Given the description of an element on the screen output the (x, y) to click on. 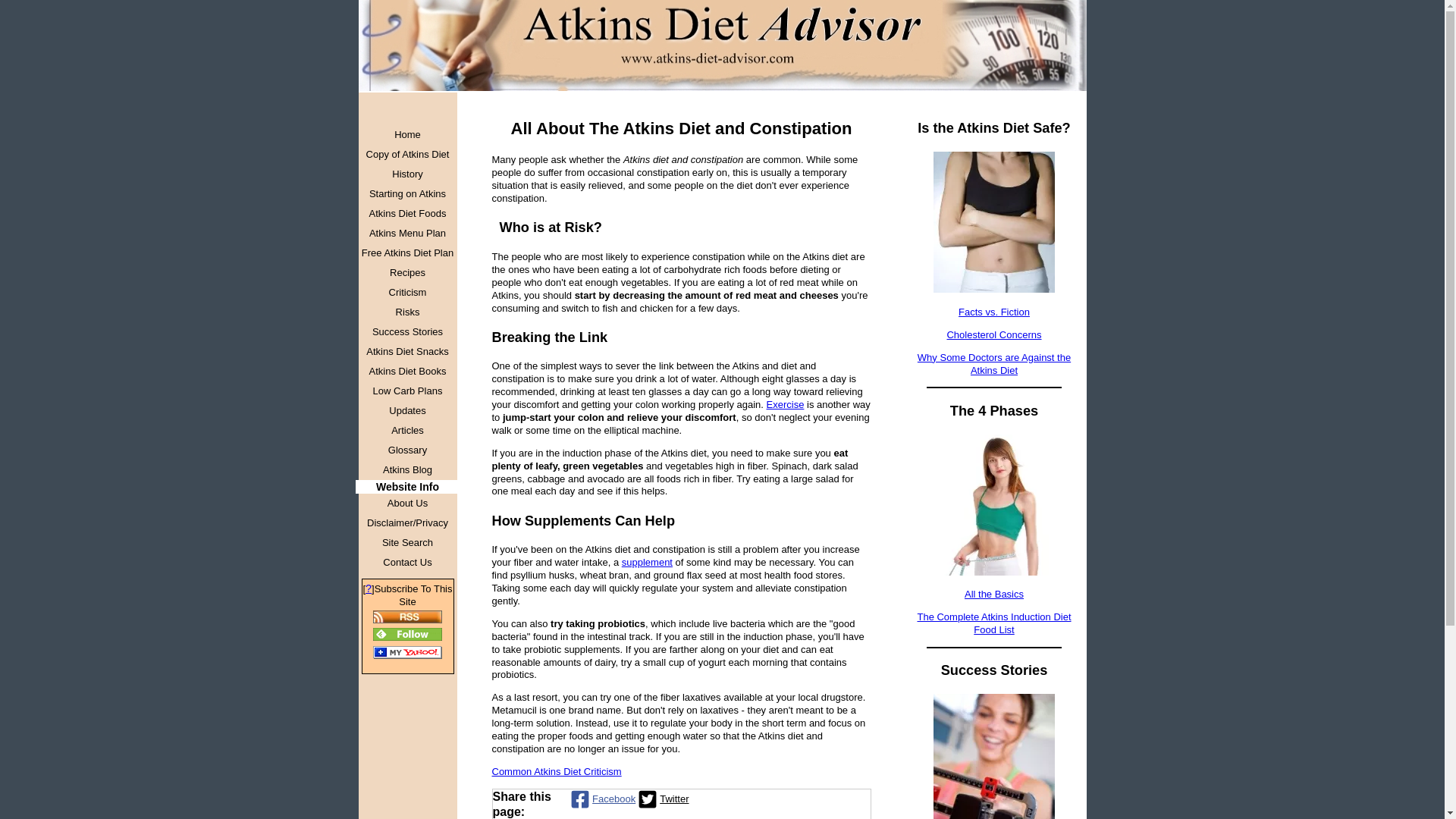
Exercise (786, 404)
Success Stories (407, 332)
Articles (407, 430)
Starting on Atkins (407, 193)
The Complete Atkins Induction Diet Food List (993, 622)
Low Carb Plans (407, 391)
All the Basics (993, 593)
Atkins Blog (407, 469)
Updates (407, 410)
Free Atkins Diet Plan (407, 252)
